Given the description of an element on the screen output the (x, y) to click on. 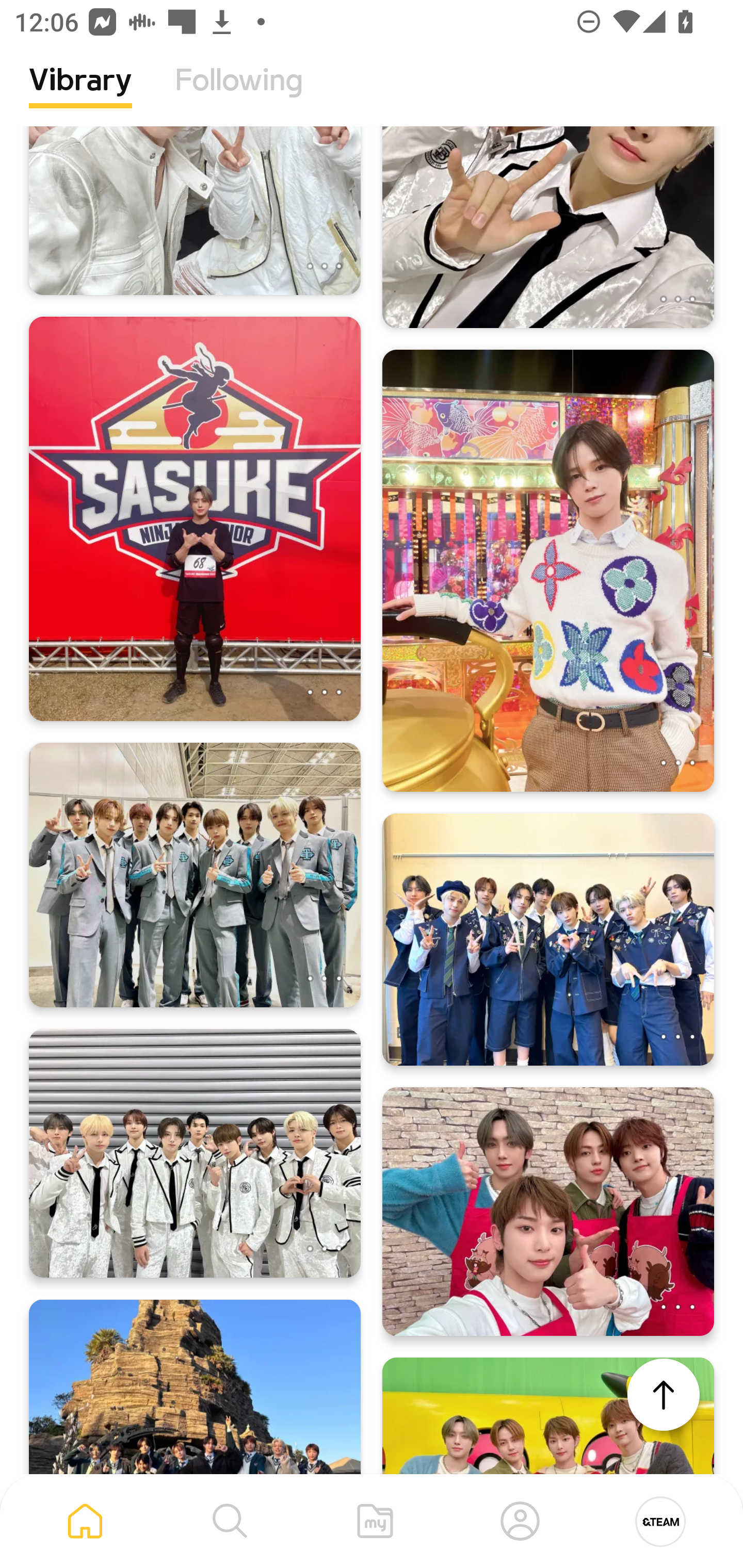
Vibrary (80, 95)
Following (239, 95)
